Given the description of an element on the screen output the (x, y) to click on. 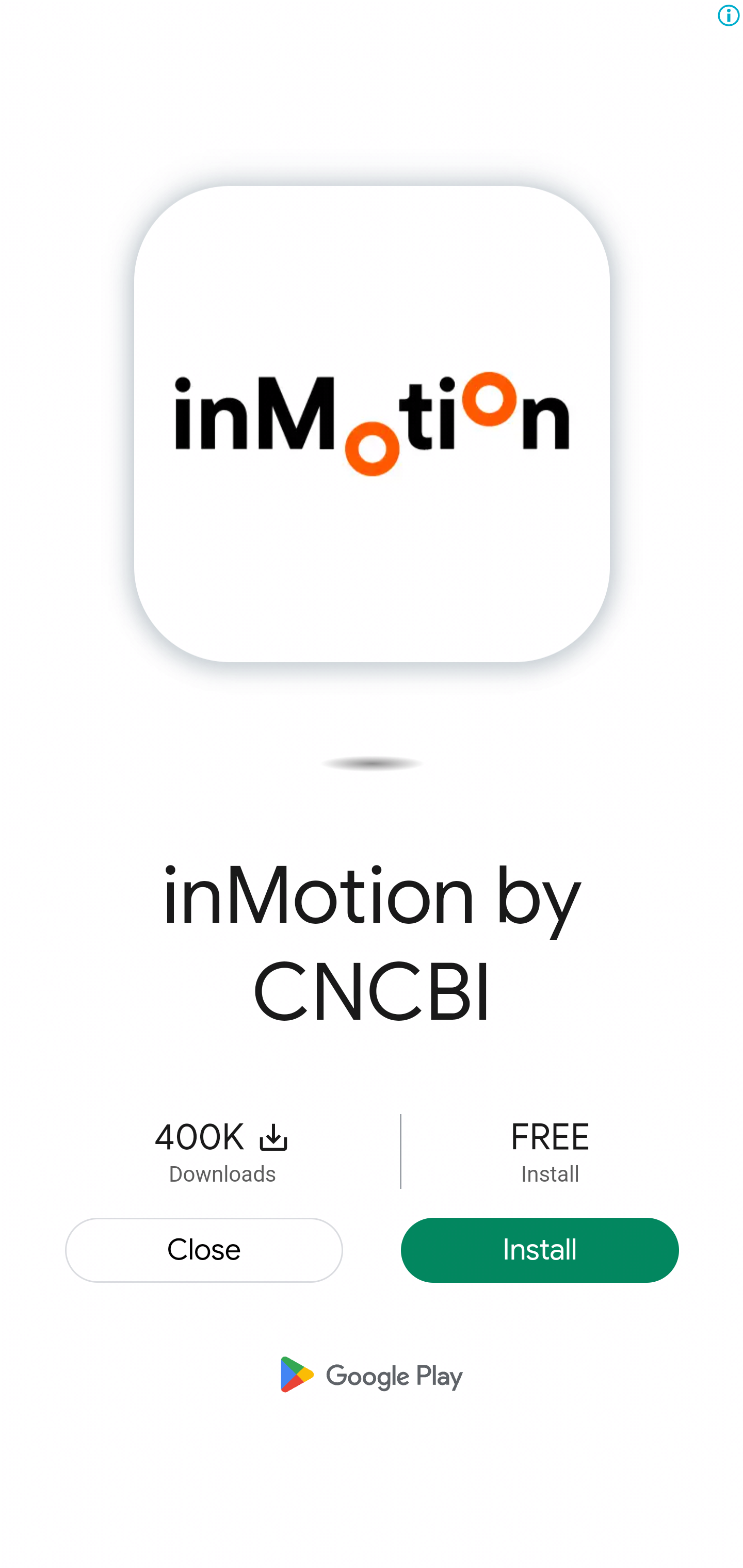
Close (204, 1249)
Install (539, 1249)
